Given the description of an element on the screen output the (x, y) to click on. 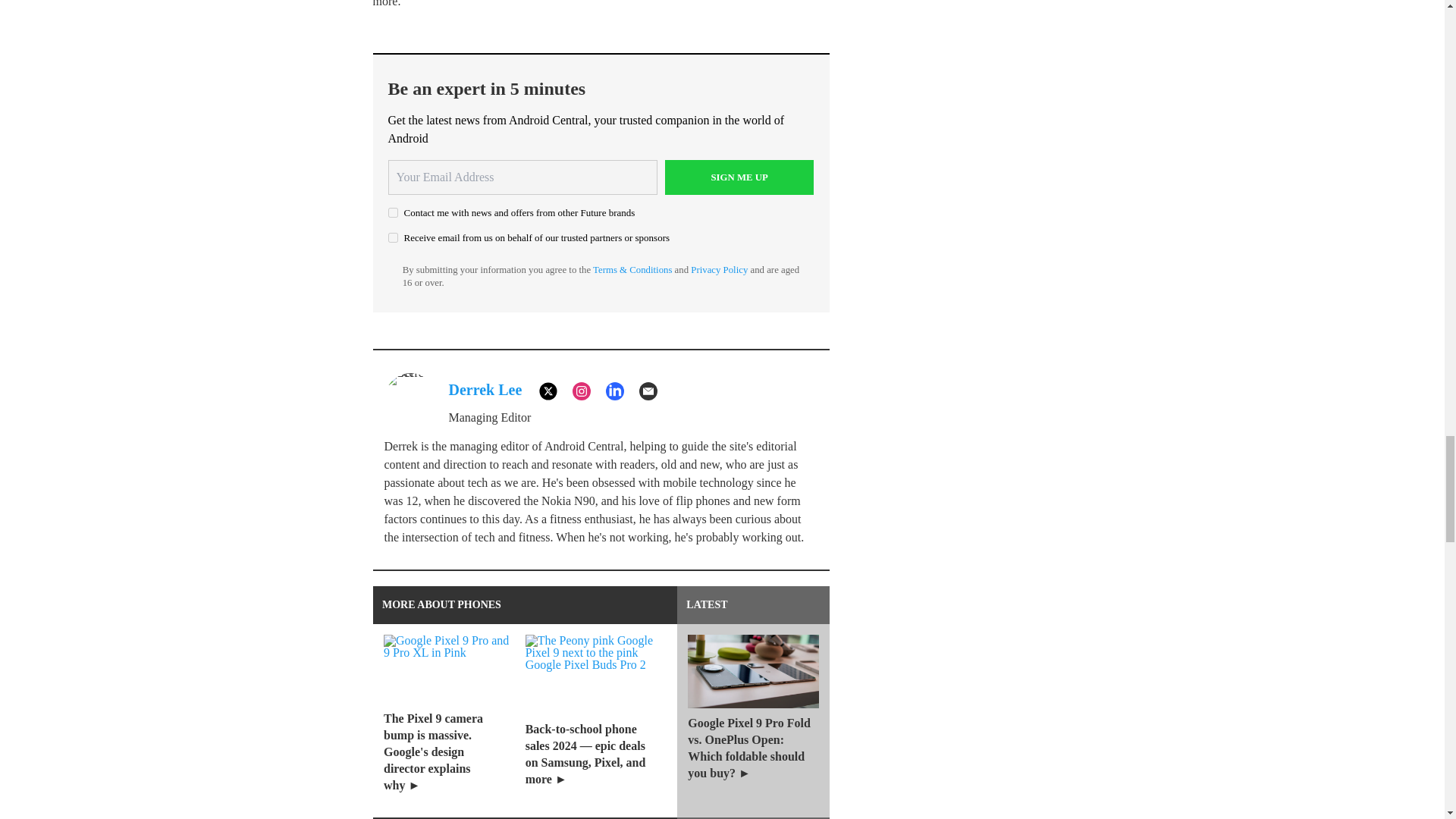
on (392, 237)
Sign me up (739, 176)
on (392, 212)
